Given the description of an element on the screen output the (x, y) to click on. 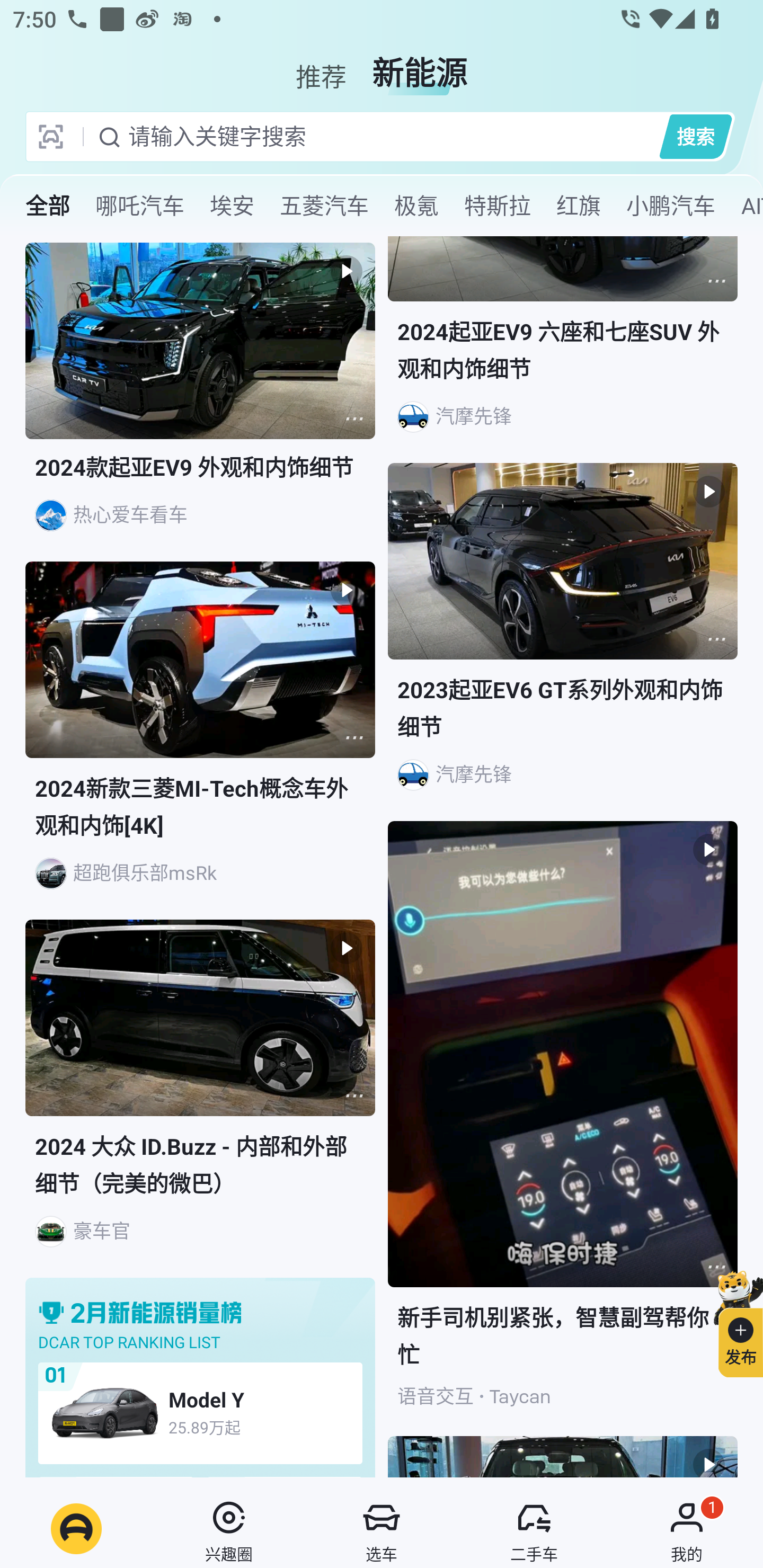
推荐 (321, 65)
新能源 (419, 65)
搜索 (695, 136)
全部 (47, 205)
哪吒汽车 (139, 205)
埃安 (231, 205)
五菱汽车 (324, 205)
极氪 (416, 205)
特斯拉 (497, 205)
红旗 (578, 205)
小鹏汽车 (670, 205)
 2024起亚EV9 六座和七座SUV 外观和内饰细节 汽摩先锋 (562, 349)
  2024款起亚EV9 外观和内饰细节 热心爱车看车 (200, 402)
 (716, 280)
 (354, 418)
  2023起亚EV6 GT系列外观和内饰细节 汽摩先锋 (562, 641)
  2024新款三菱MI-Tech概念车外观和内饰[4K] 超跑俱乐部msRk (200, 739)
 (716, 639)
 (354, 737)
  新手司机别紧张，智慧副驾帮你忙 语音交互 Taycan (562, 1128)
  2024 大众 ID.Buzz - 内部和外部细节（完美的微巴） 豪车官 (200, 1097)
 (354, 1096)
 (716, 1266)
发布 (732, 1321)
2 DCAR TOP RANKING LIST 01 Model Y 25.89万起 02 03 (200, 1377)
01 (54, 1376)
Taycan (519, 1396)
Model Y (262, 1398)
25.89万起 (262, 1426)
 兴趣圈 (228, 1528)
 选车 (381, 1528)
 二手车 (533, 1528)
 我的 (686, 1528)
